Given the description of an element on the screen output the (x, y) to click on. 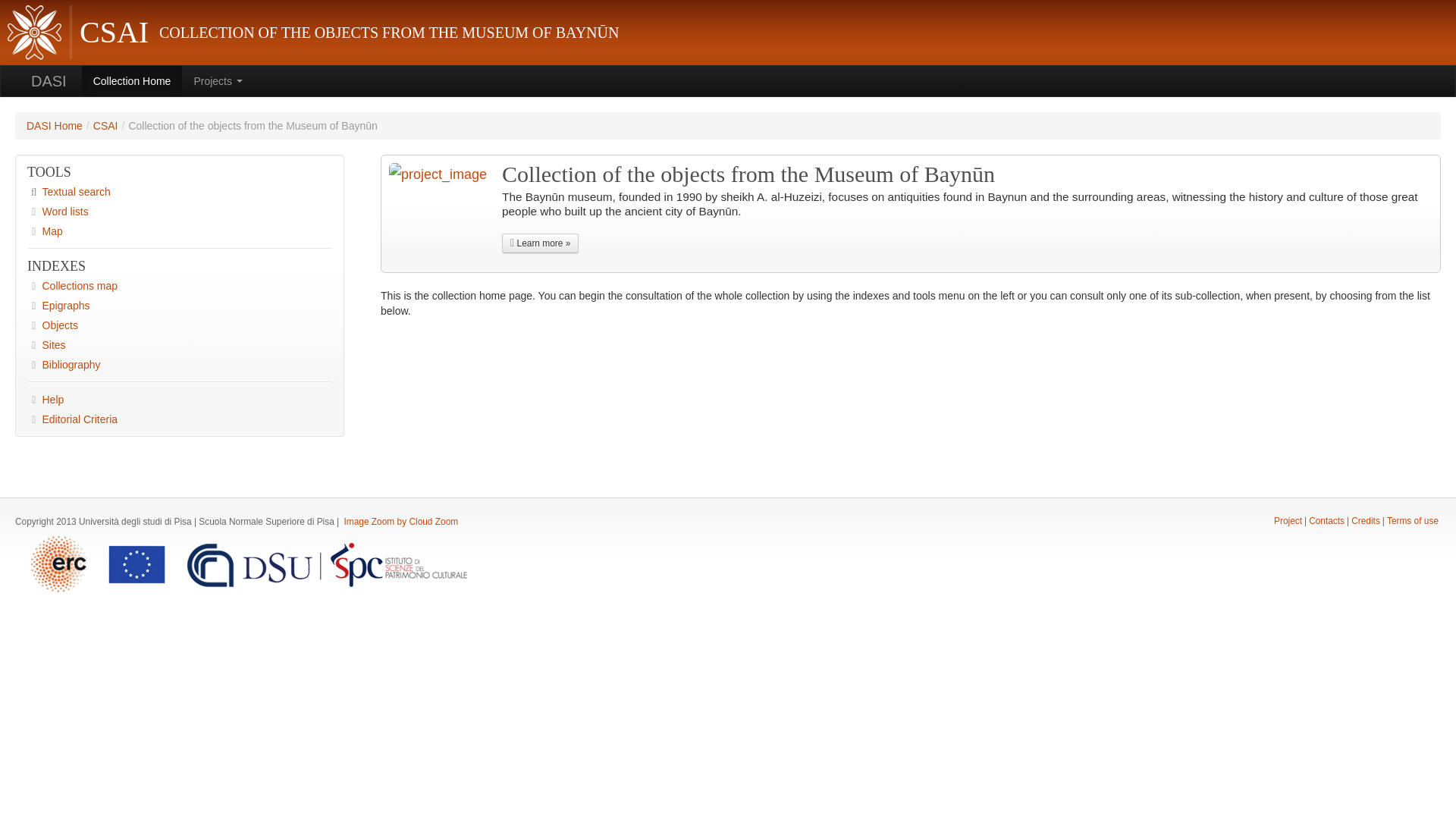
Projects (217, 81)
Terms of use (1412, 520)
Credits (1365, 520)
Word lists (179, 211)
CSAI (105, 125)
Map (179, 230)
Bibliography (179, 364)
Image Zoom by Cloud Zoom (400, 521)
Help (179, 399)
DASI Home (54, 125)
Sites (179, 344)
Textual search (179, 191)
Project (1287, 520)
Contacts (1325, 520)
Epigraphs (179, 305)
